Given the description of an element on the screen output the (x, y) to click on. 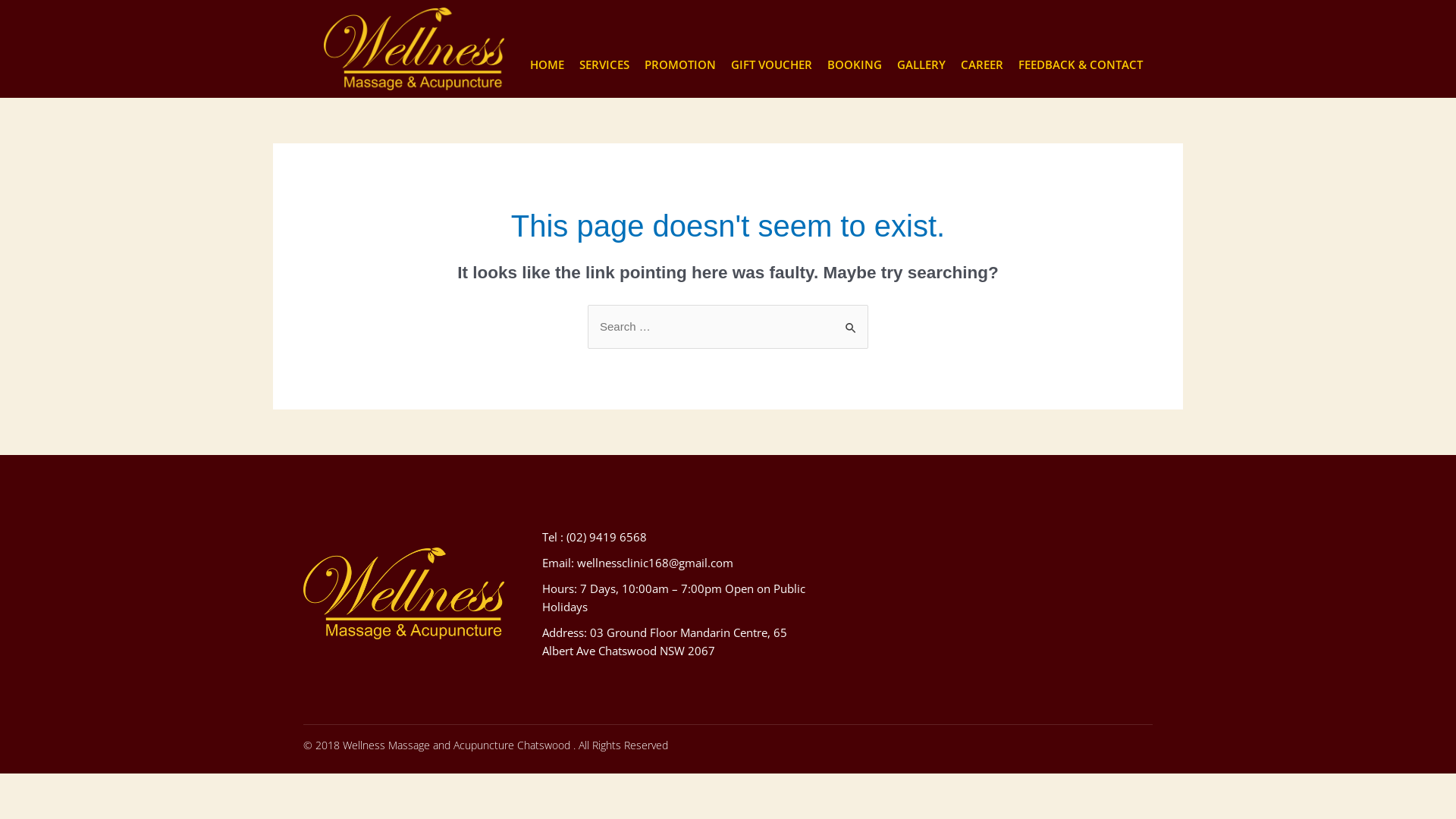
PROMOTION Element type: text (679, 64)
CAREER Element type: text (981, 64)
GALLERY Element type: text (920, 64)
GIFT VOUCHER Element type: text (771, 64)
HOME Element type: text (546, 64)
BOOKING Element type: text (853, 64)
Search Element type: text (851, 319)
FEEDBACK & CONTACT Element type: text (1079, 64)
SERVICES Element type: text (604, 64)
